Given the description of an element on the screen output the (x, y) to click on. 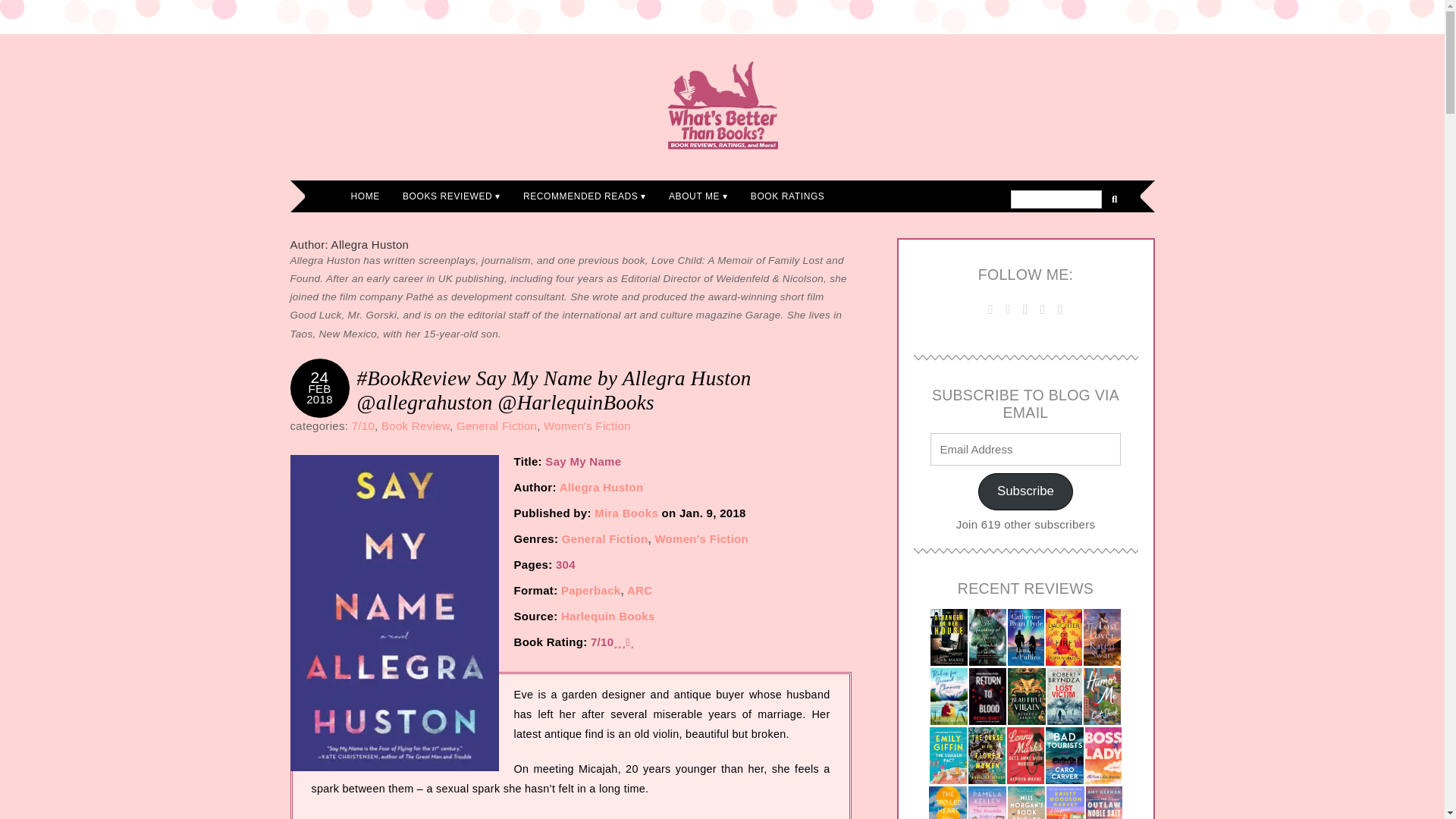
BOOKS REVIEWED (451, 196)
Paperback (590, 590)
ARC (639, 590)
Search (1056, 199)
24 (320, 376)
Mira Books (626, 512)
Women's Fiction (700, 538)
BOOK RATINGS (787, 196)
RECOMMENDED READS (585, 196)
Women's Fiction (586, 425)
Harlequin Books (607, 615)
Allegra Huston (601, 486)
ABOUT ME (698, 196)
What's Better Than Books? (722, 104)
General Fiction (497, 425)
